Given the description of an element on the screen output the (x, y) to click on. 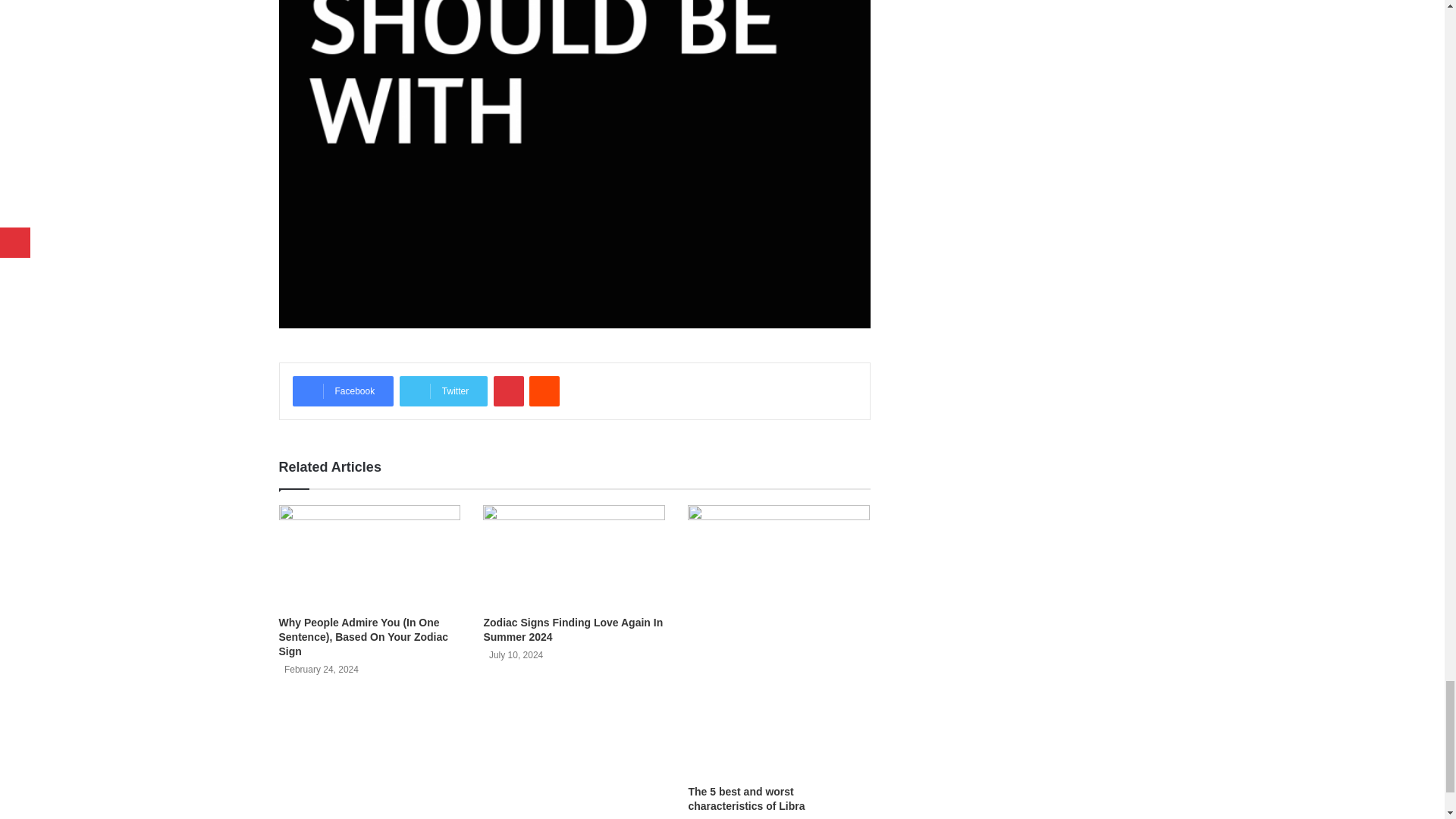
Twitter (442, 390)
Facebook (343, 390)
Pinterest (508, 390)
